Given the description of an element on the screen output the (x, y) to click on. 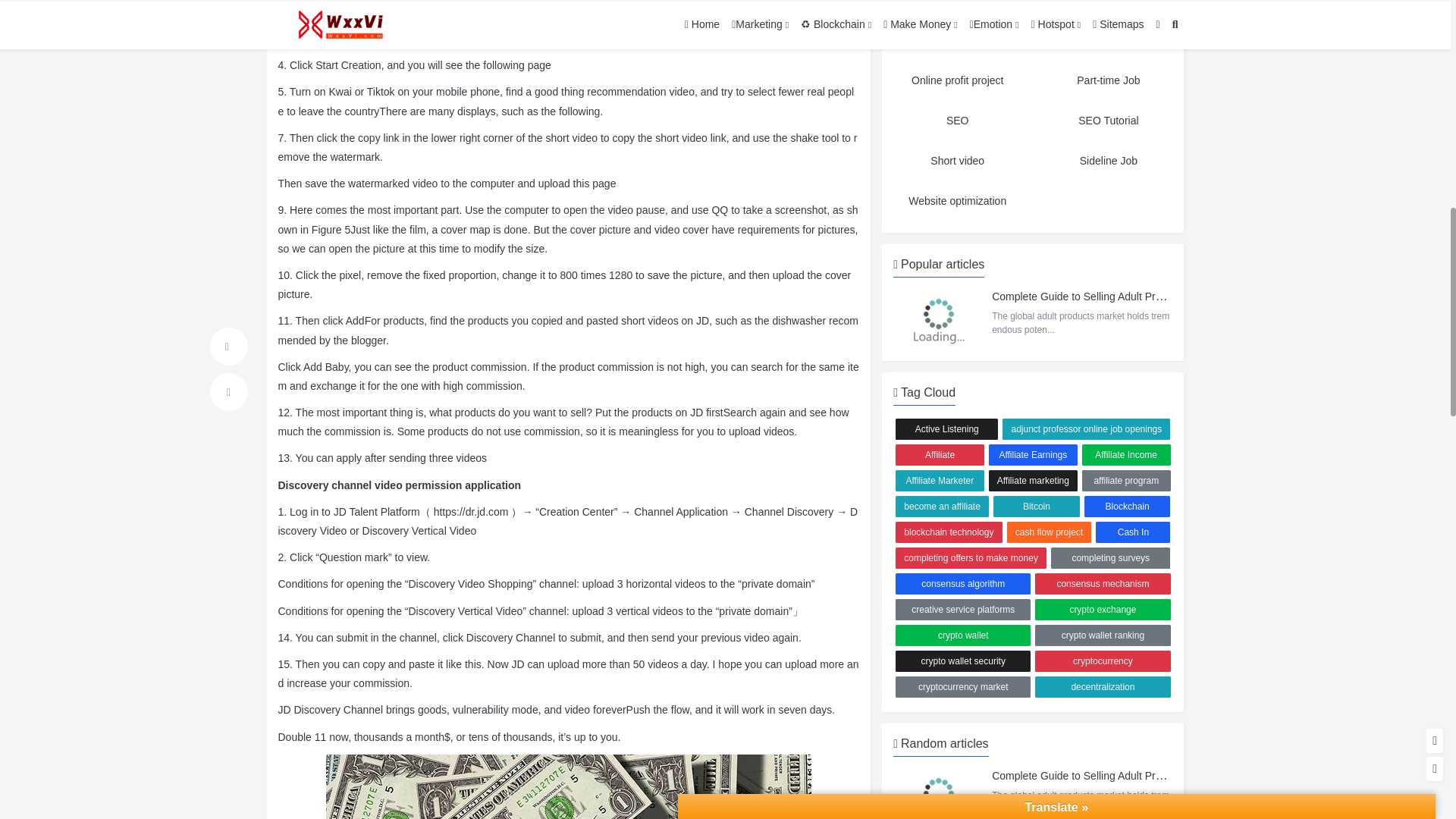
NFT (1108, 7)
Metaverse (957, 7)
